Given the description of an element on the screen output the (x, y) to click on. 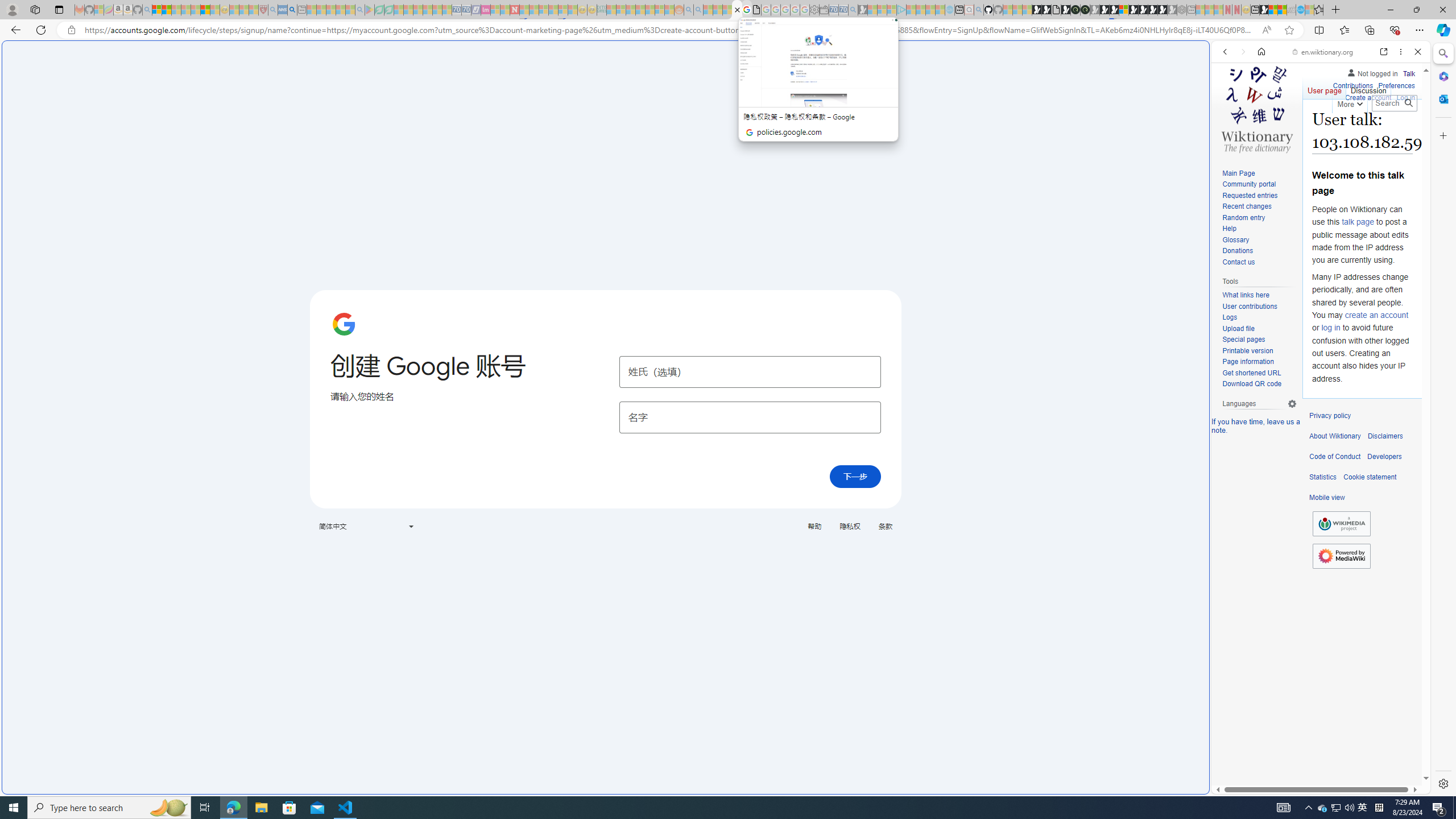
Glossary (1235, 239)
Log in (1405, 96)
en.wiktionary.org (1323, 51)
Random entry (1243, 216)
